Given the description of an element on the screen output the (x, y) to click on. 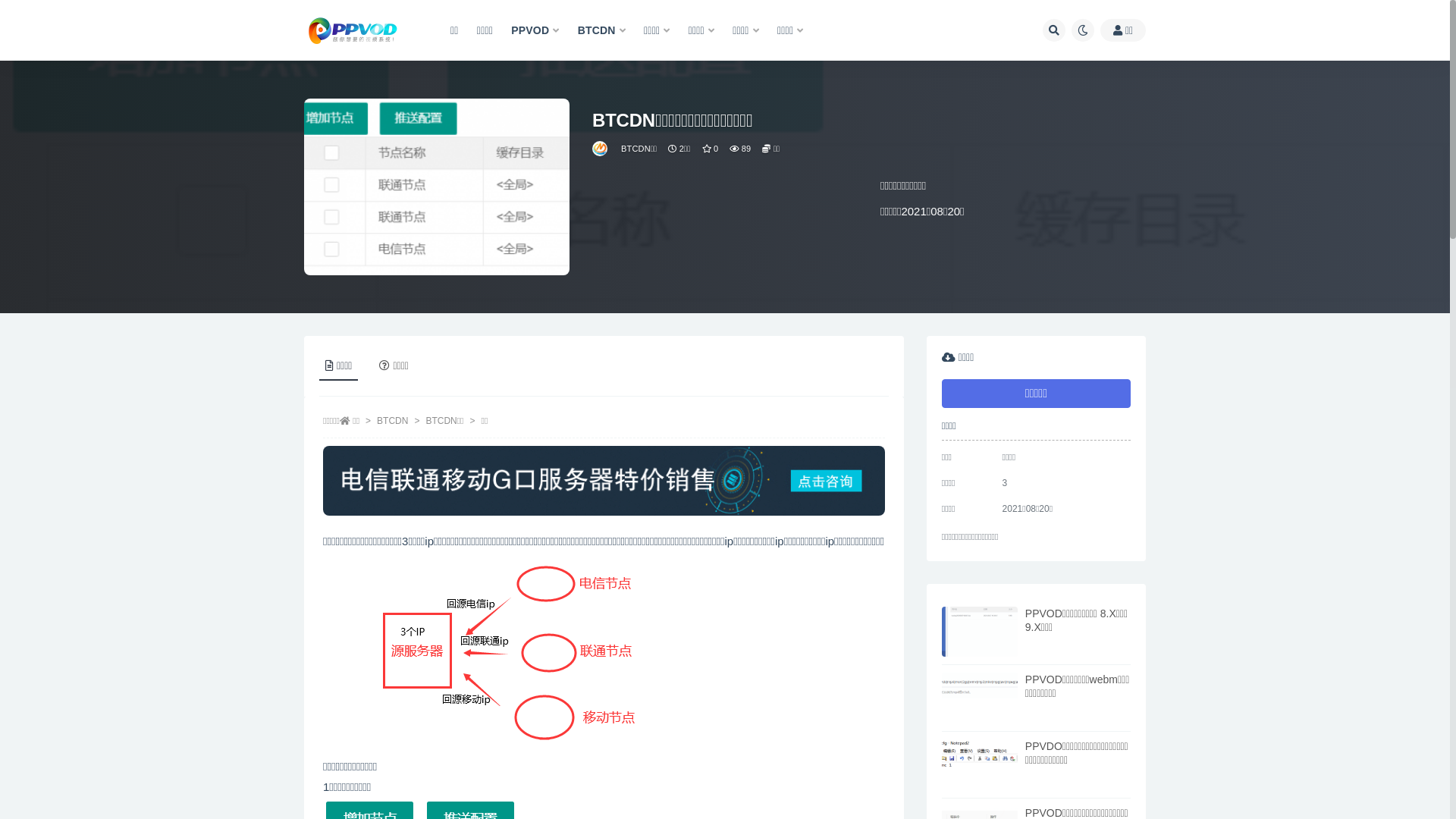
alliance Element type: hover (600, 148)
PPVOD Element type: text (534, 30)
1628739358-8d22f11da597c24 Element type: hover (504, 653)
BTCDN Element type: text (391, 420)
BTCDN Element type: text (601, 30)
